Given the description of an element on the screen output the (x, y) to click on. 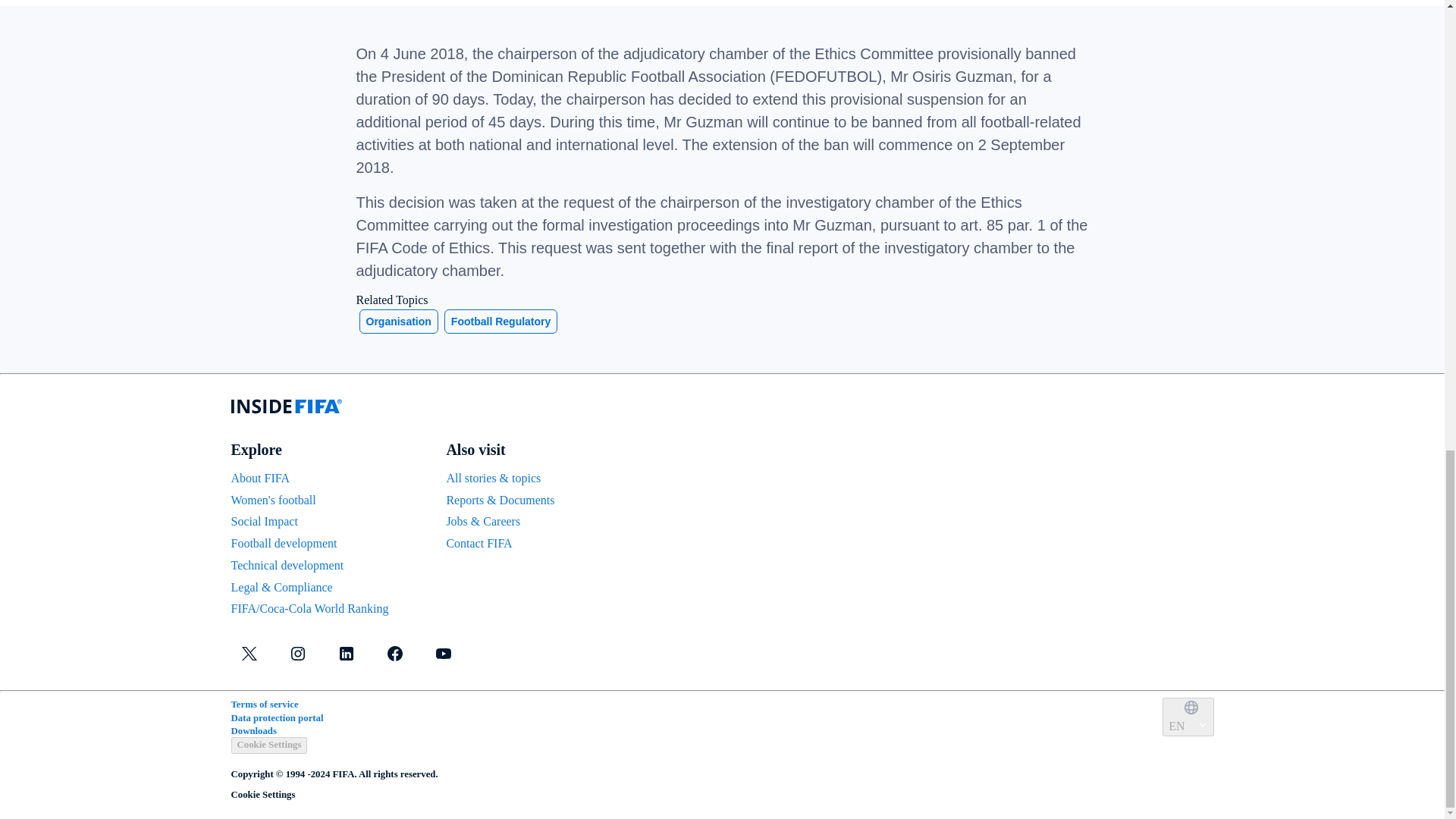
Football development (283, 543)
Organisation (398, 320)
About FIFA (259, 477)
Football Regulatory (500, 320)
Contact FIFA (478, 543)
Downloads (253, 730)
EN (1186, 716)
Cookie Settings (268, 744)
Terms of service (264, 704)
Data protection portal (276, 717)
